Given the description of an element on the screen output the (x, y) to click on. 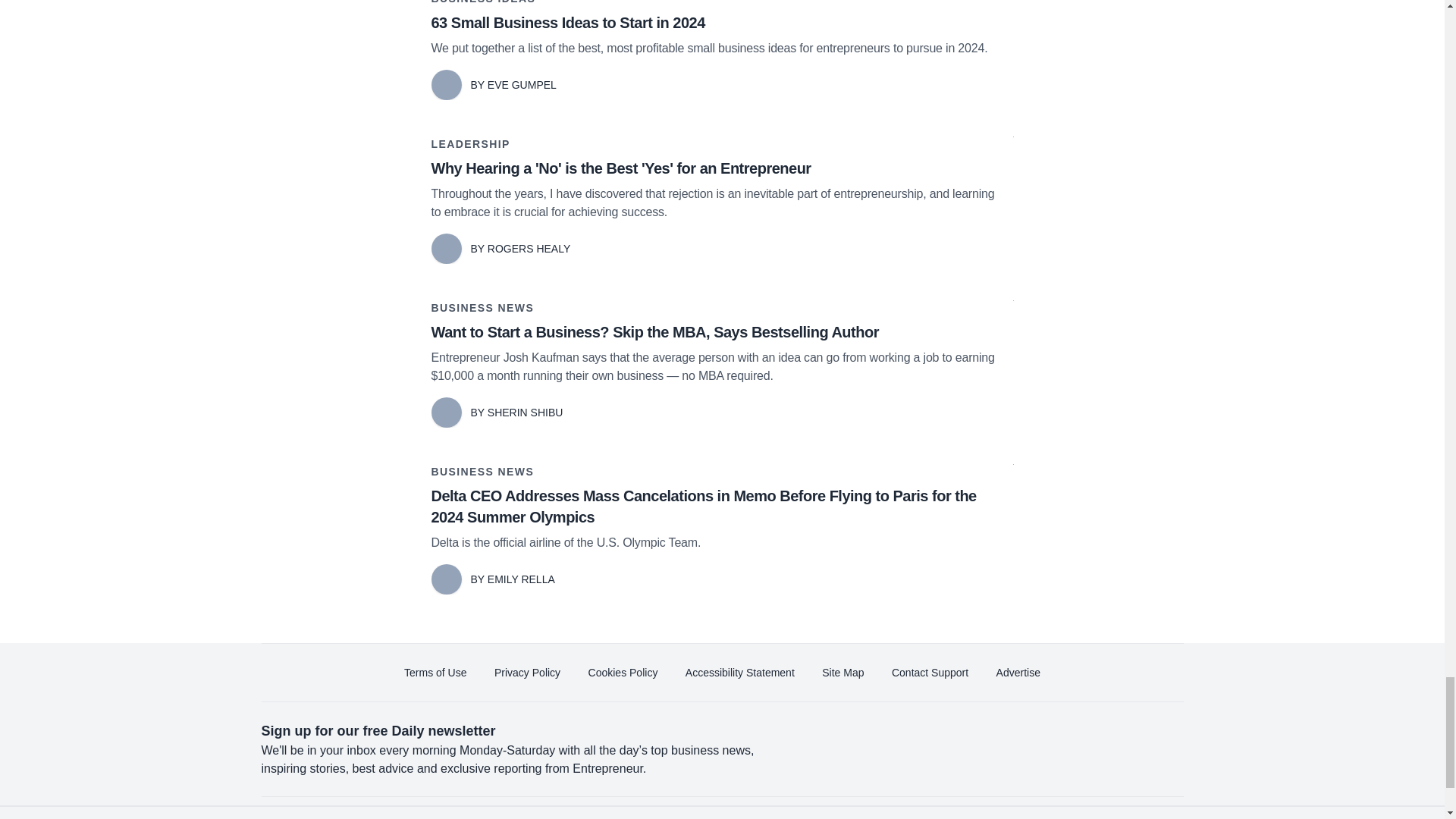
tiktok (1079, 816)
snapchat (1121, 816)
twitter (909, 816)
youtube (994, 816)
linkedin (952, 816)
facebook (866, 816)
instagram (1037, 816)
